Given the description of an element on the screen output the (x, y) to click on. 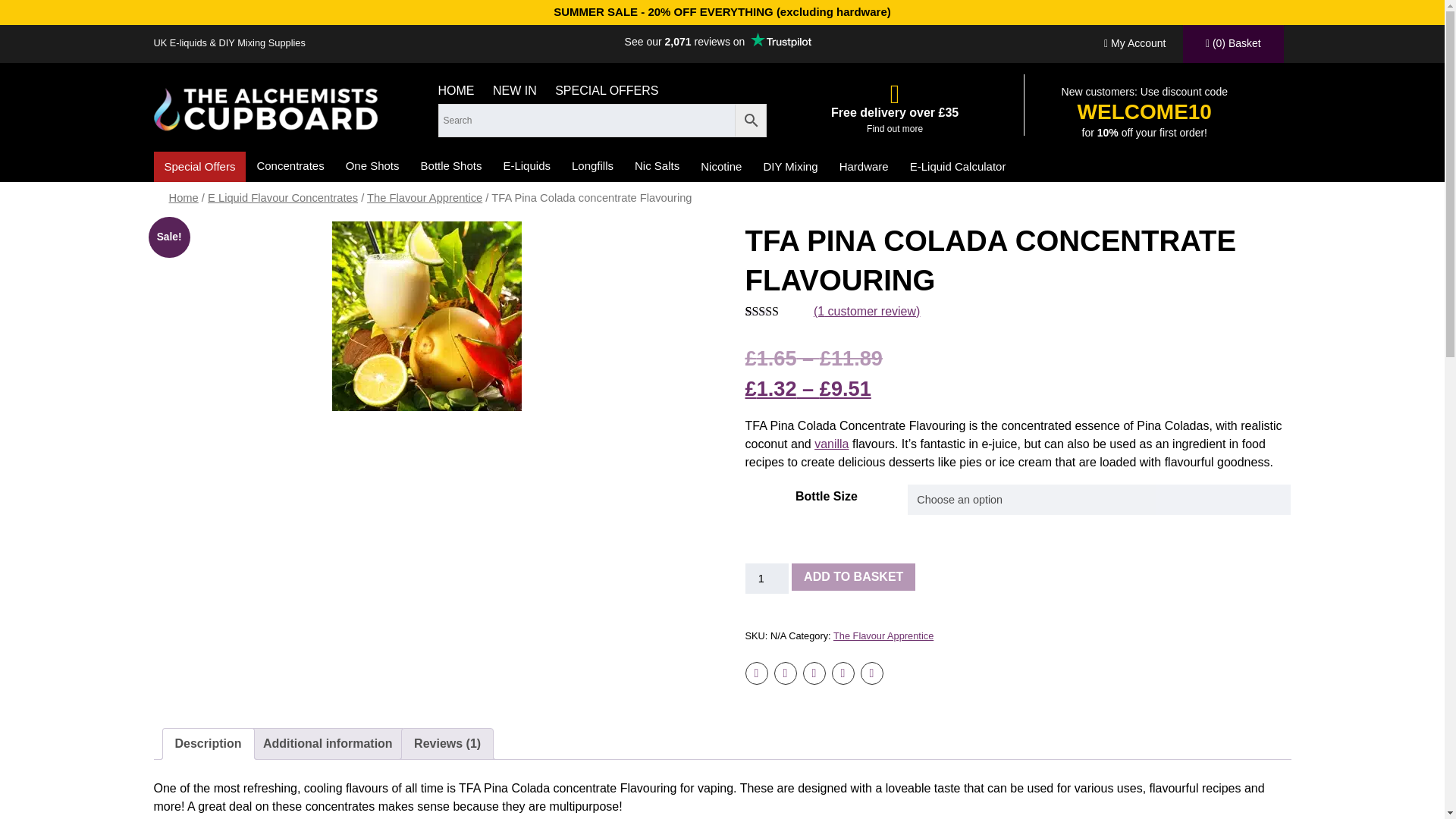
Basket (1232, 43)
Customer reviews powered by Trustpilot (718, 40)
NEW IN (515, 89)
1 (766, 578)
HOME (456, 89)
Concentrates (290, 165)
Login (1134, 43)
Special Offers (199, 166)
My Account (1134, 43)
One Shots (372, 165)
SPECIAL OFFERS (606, 89)
